Given the description of an element on the screen output the (x, y) to click on. 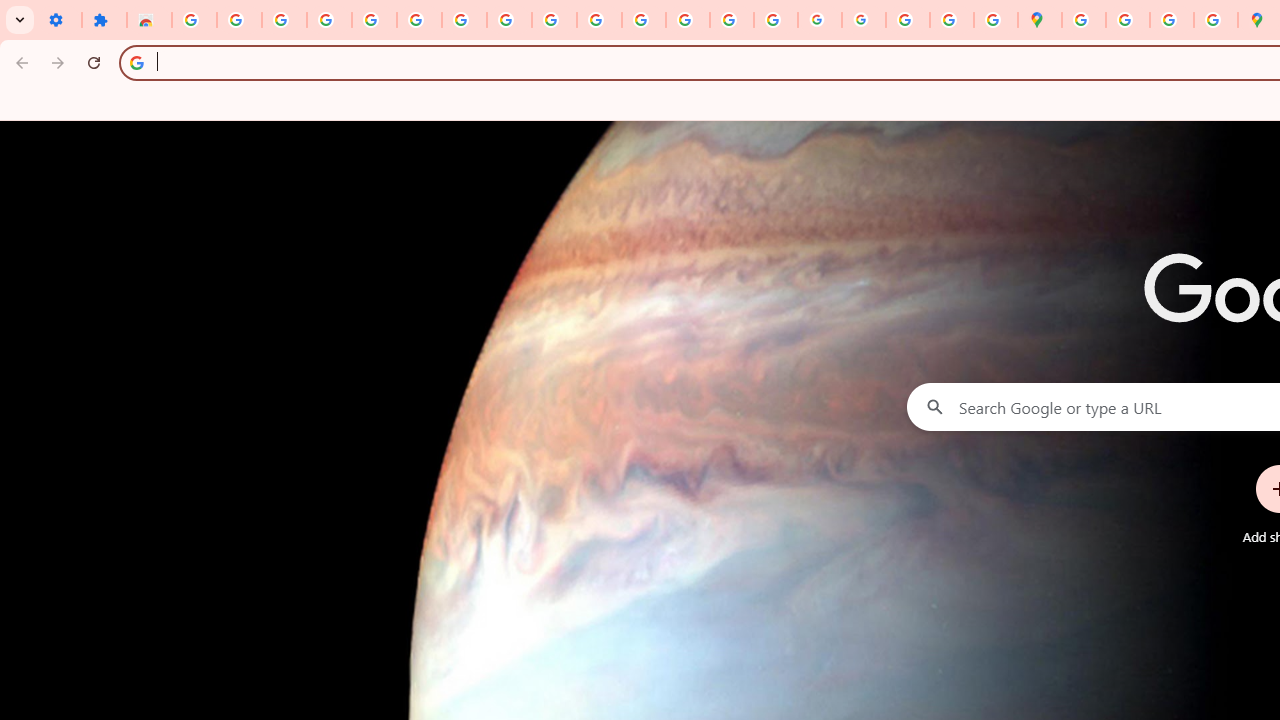
Delete photos & videos - Computer - Google Photos Help (284, 20)
Safety in Our Products - Google Safety Center (1215, 20)
